Given the description of an element on the screen output the (x, y) to click on. 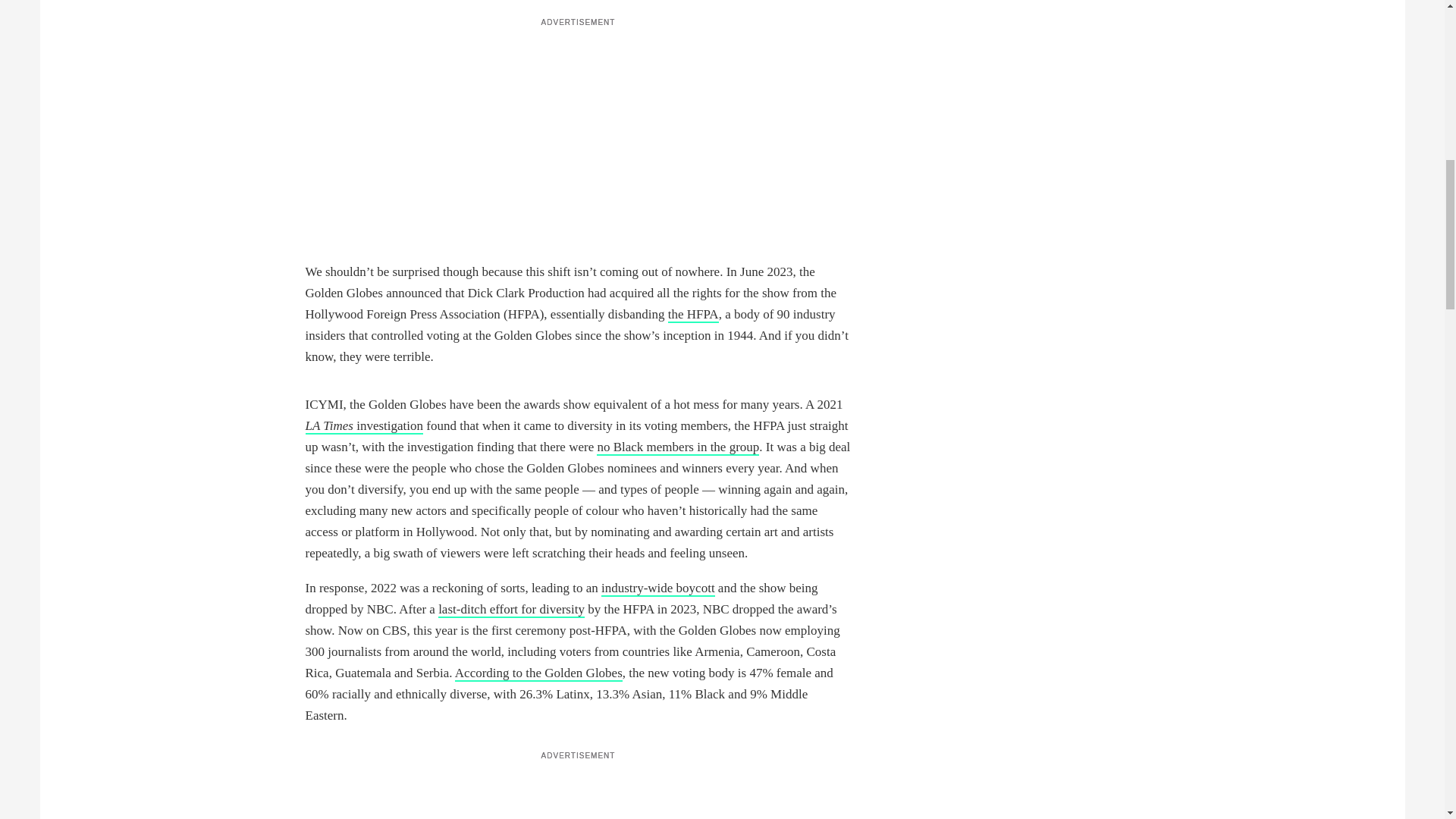
industry-wide boycott (657, 588)
According to the Golden Globes (538, 673)
LA Times investigation (363, 426)
last-ditch effort for diversity (511, 609)
the HFPA (693, 314)
no Black members in the group (677, 447)
